Given the description of an element on the screen output the (x, y) to click on. 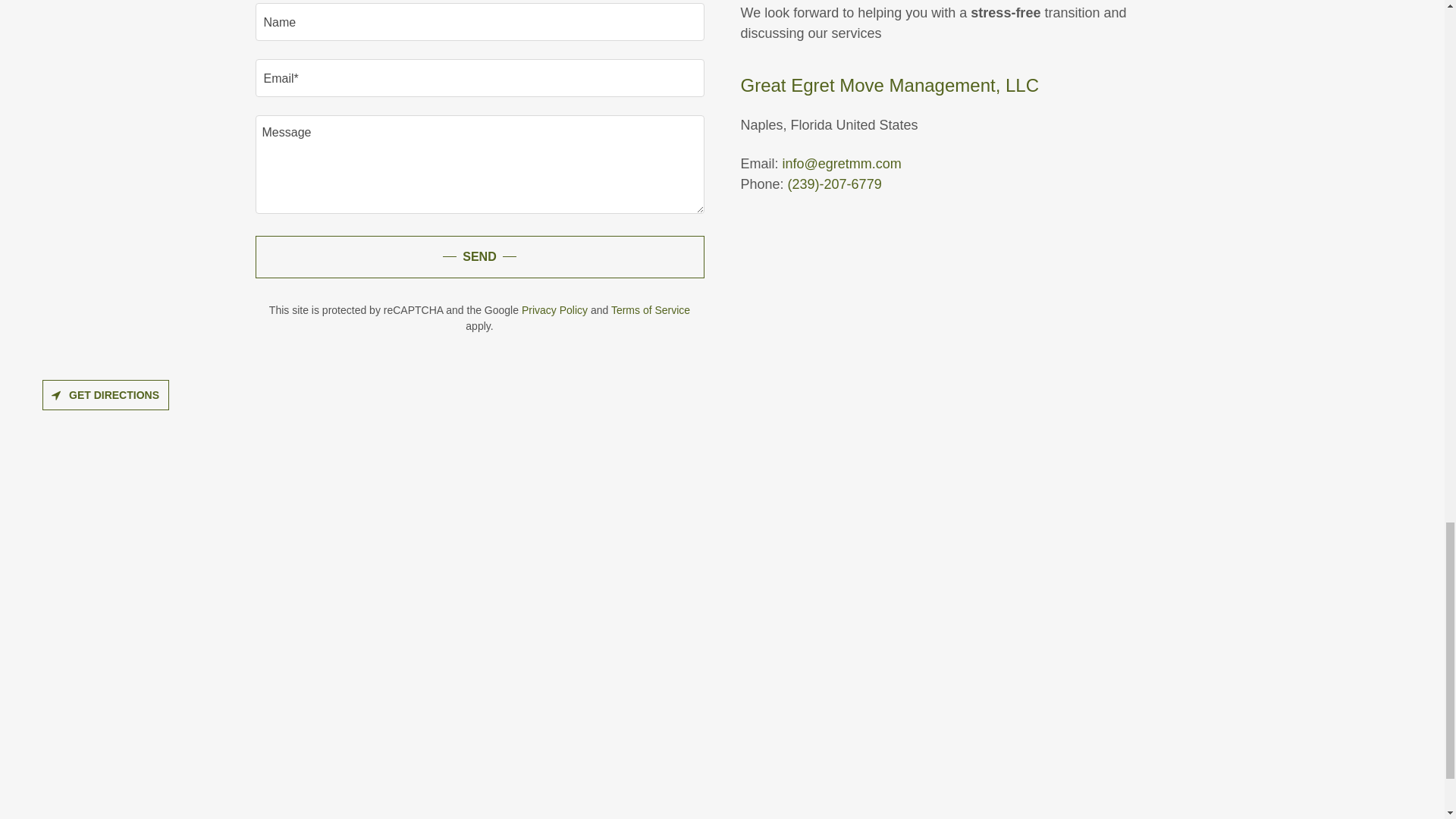
GET DIRECTIONS (105, 395)
Privacy Policy (554, 309)
SEND (478, 256)
Terms of Service (650, 309)
